Given the description of an element on the screen output the (x, y) to click on. 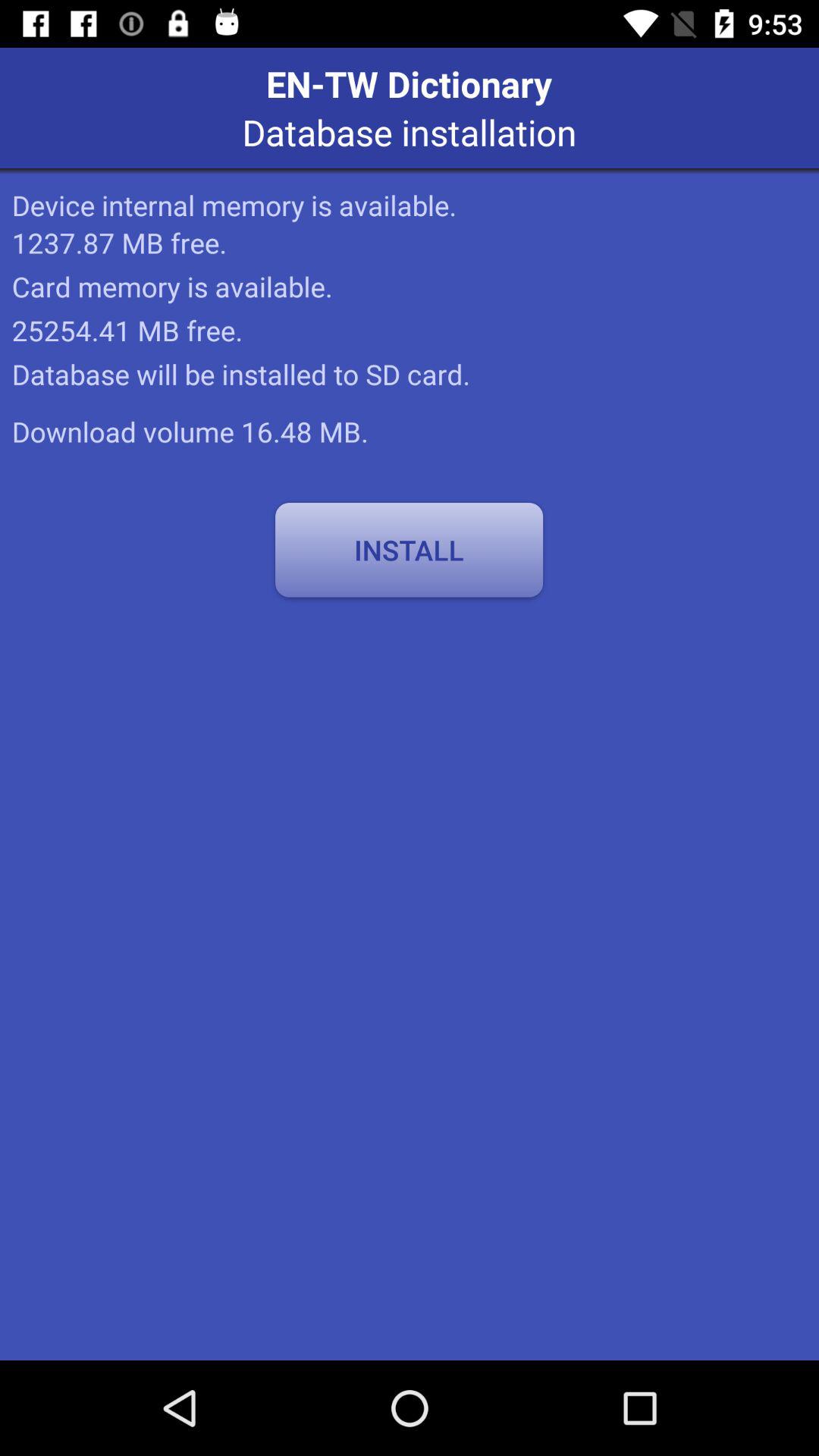
turn on the item at the center (408, 549)
